Given the description of an element on the screen output the (x, y) to click on. 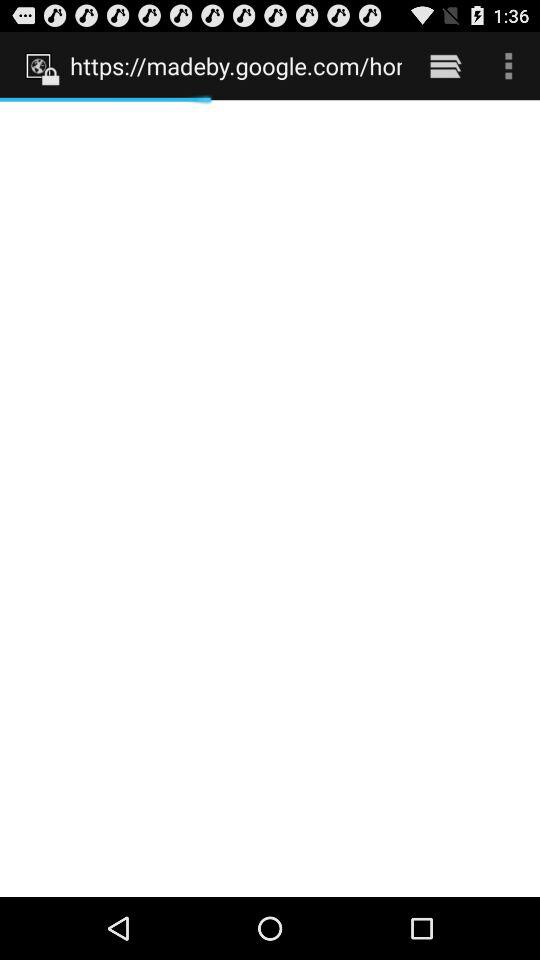
turn on item at the center (270, 497)
